Given the description of an element on the screen output the (x, y) to click on. 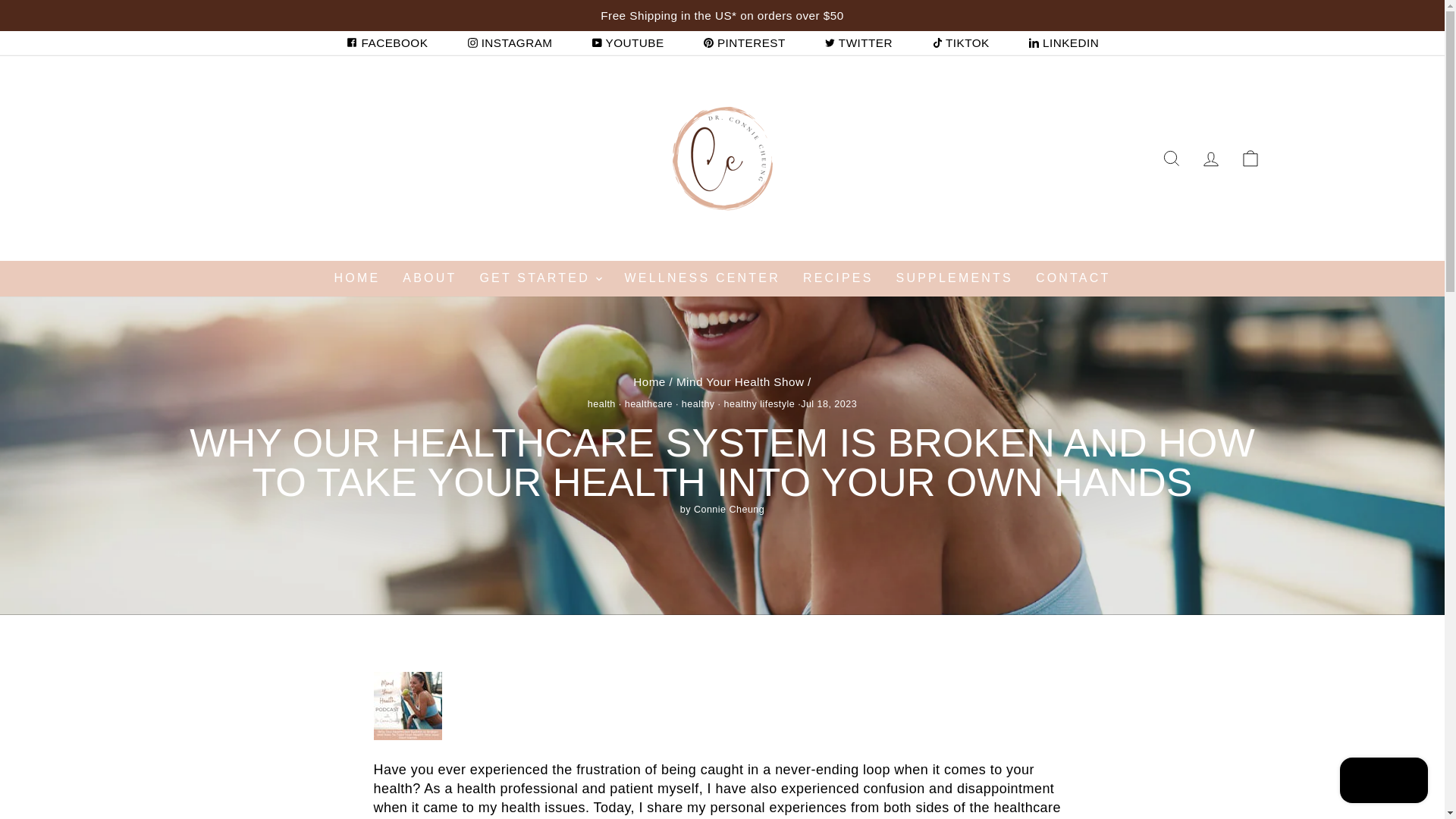
HOME (357, 278)
YOUTUBE (628, 42)
SEARCH (1171, 157)
Back to the frontpage (649, 381)
TWITTER (858, 42)
CART (1249, 157)
LOG IN (1210, 157)
INSTAGRAM (510, 42)
TIKTOK (960, 42)
